Given the description of an element on the screen output the (x, y) to click on. 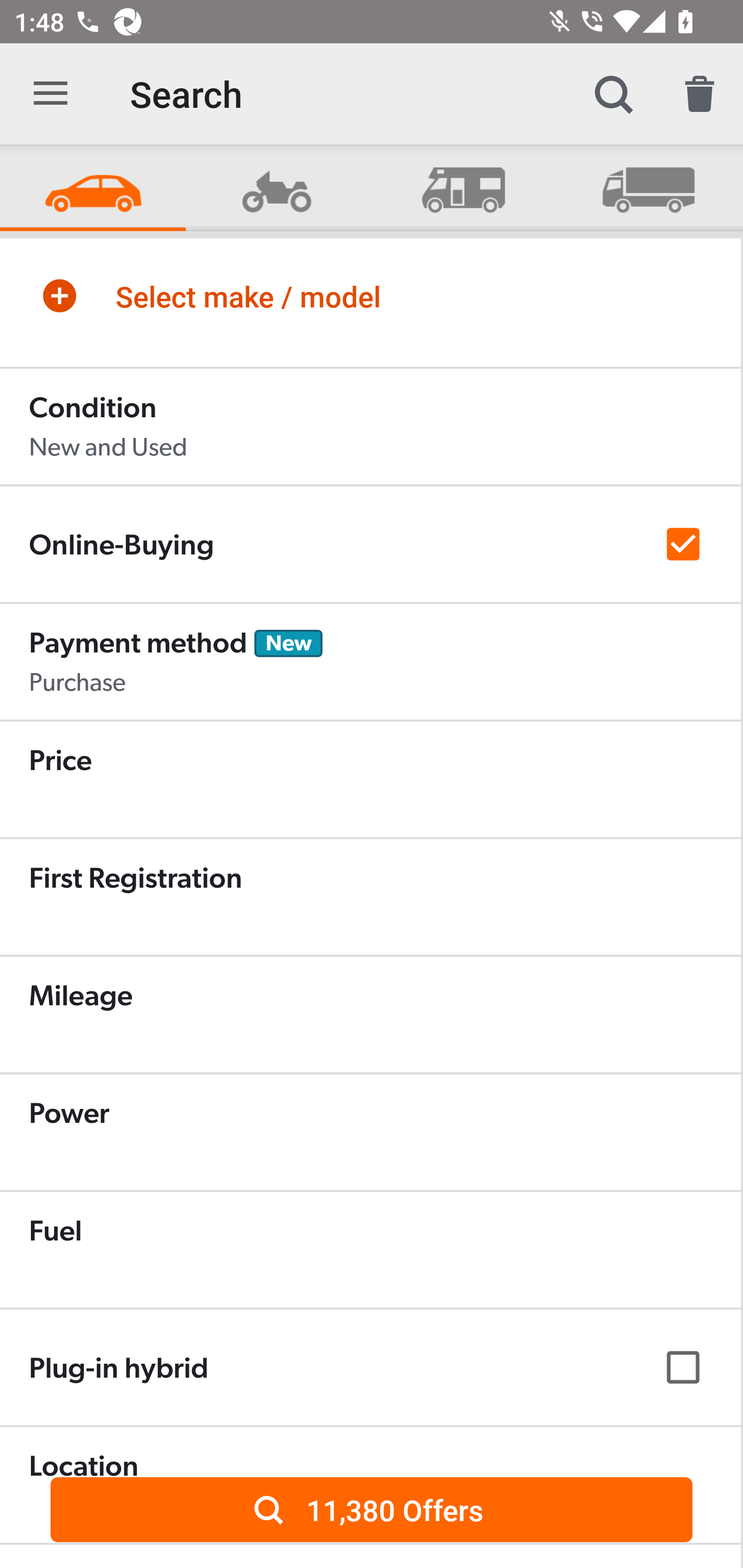
Open navigation bar (50, 93)
Search (612, 93)
Reset search (699, 93)
Select make / model (370, 296)
Condition New and Used (370, 426)
Online-Buying (370, 544)
Online-Buying (369, 543)
Payment method New Purchase (370, 661)
Price (370, 779)
First Registration (370, 896)
Mileage (370, 1014)
Power (370, 1132)
Fuel (370, 1249)
Plug-in hybrid (370, 1367)
Plug-in hybrid (369, 1367)
11,380 Offers (371, 1509)
